Given the description of an element on the screen output the (x, y) to click on. 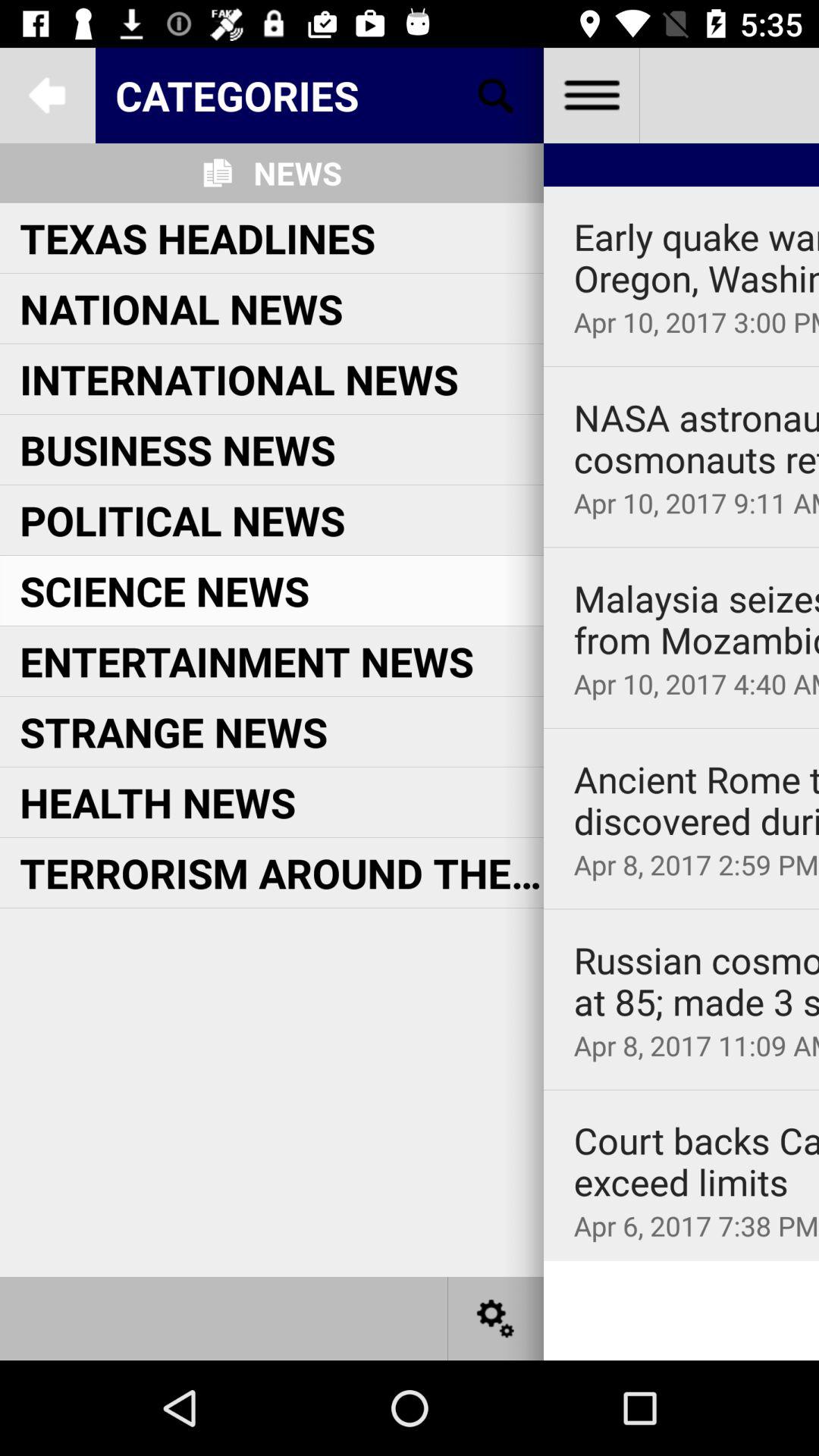
open settings (495, 1318)
